Given the description of an element on the screen output the (x, y) to click on. 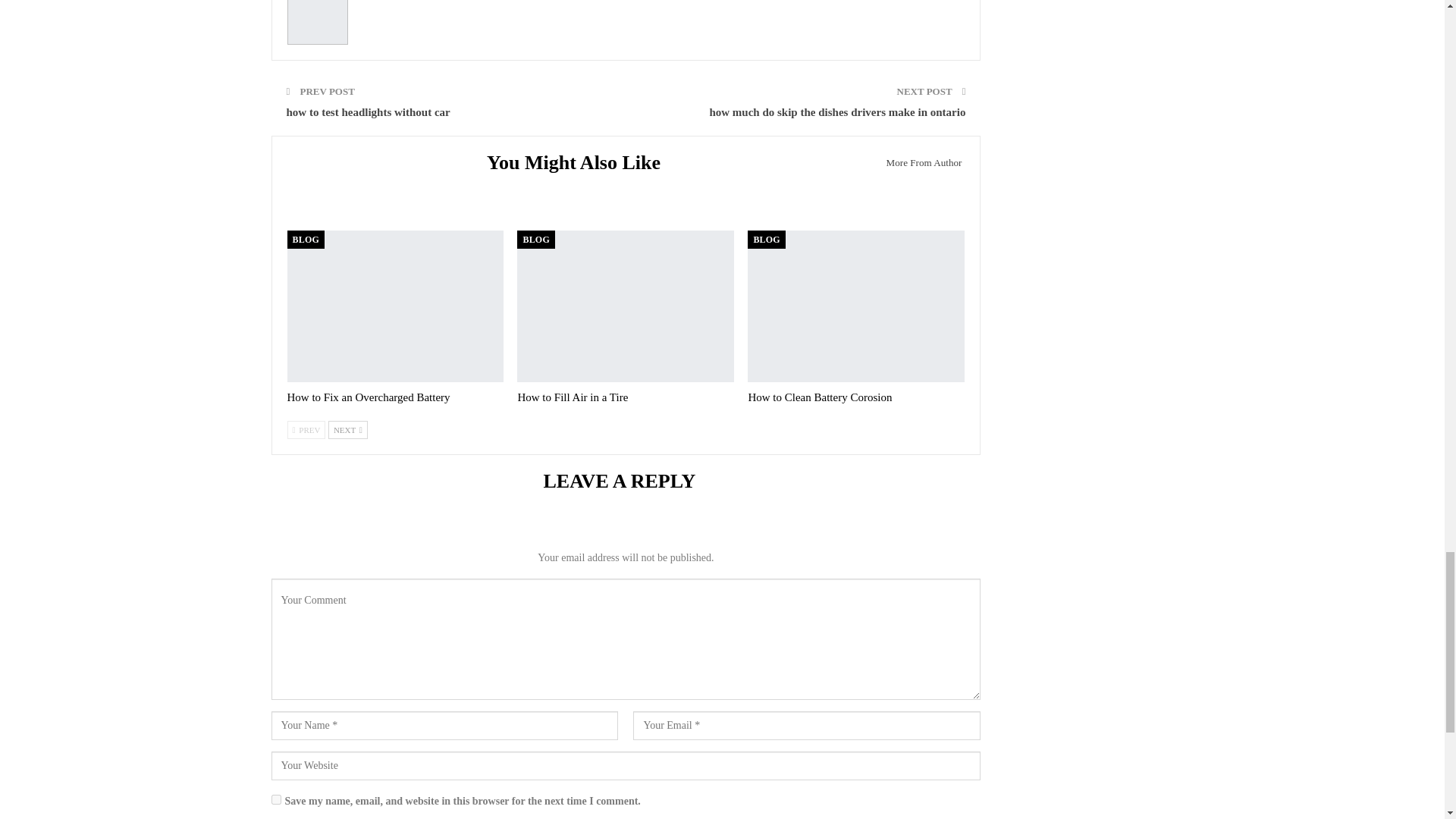
How to Clean Battery Corosion (855, 306)
How to Fix an Overcharged Battery (394, 306)
How to Fill Air in a Tire (624, 306)
how to test headlights without car (367, 111)
How to Fix an Overcharged Battery (367, 397)
More From Author (919, 162)
You Might Also Like (579, 164)
yes (275, 799)
How to Fill Air in a Tire (571, 397)
How to Clean Battery Corosion (819, 397)
how much do skip the dishes drivers make in ontario (837, 111)
Weldmex (389, 1)
BLOG (304, 239)
